Given the description of an element on the screen output the (x, y) to click on. 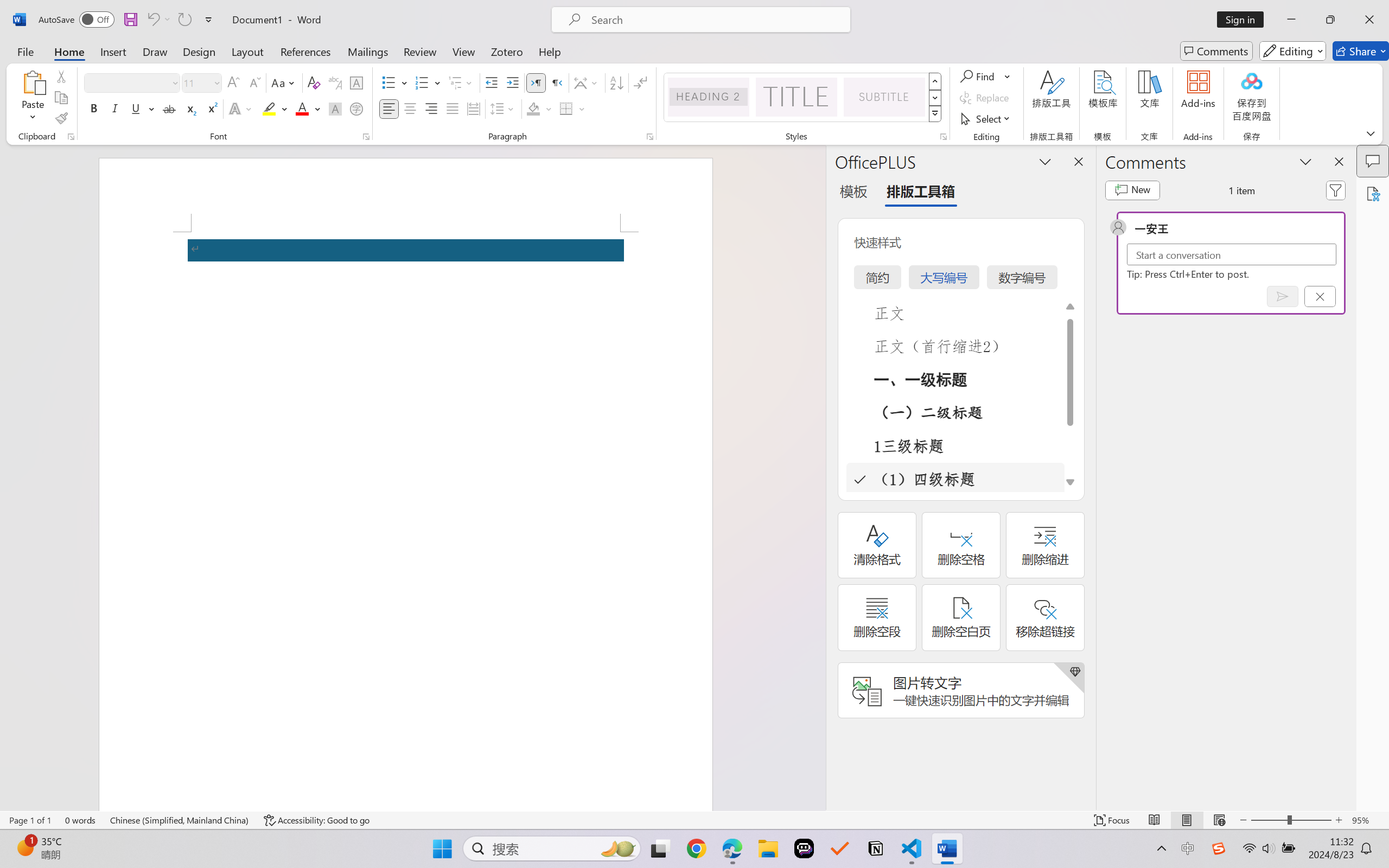
Start a conversation (1231, 254)
